Given the description of an element on the screen output the (x, y) to click on. 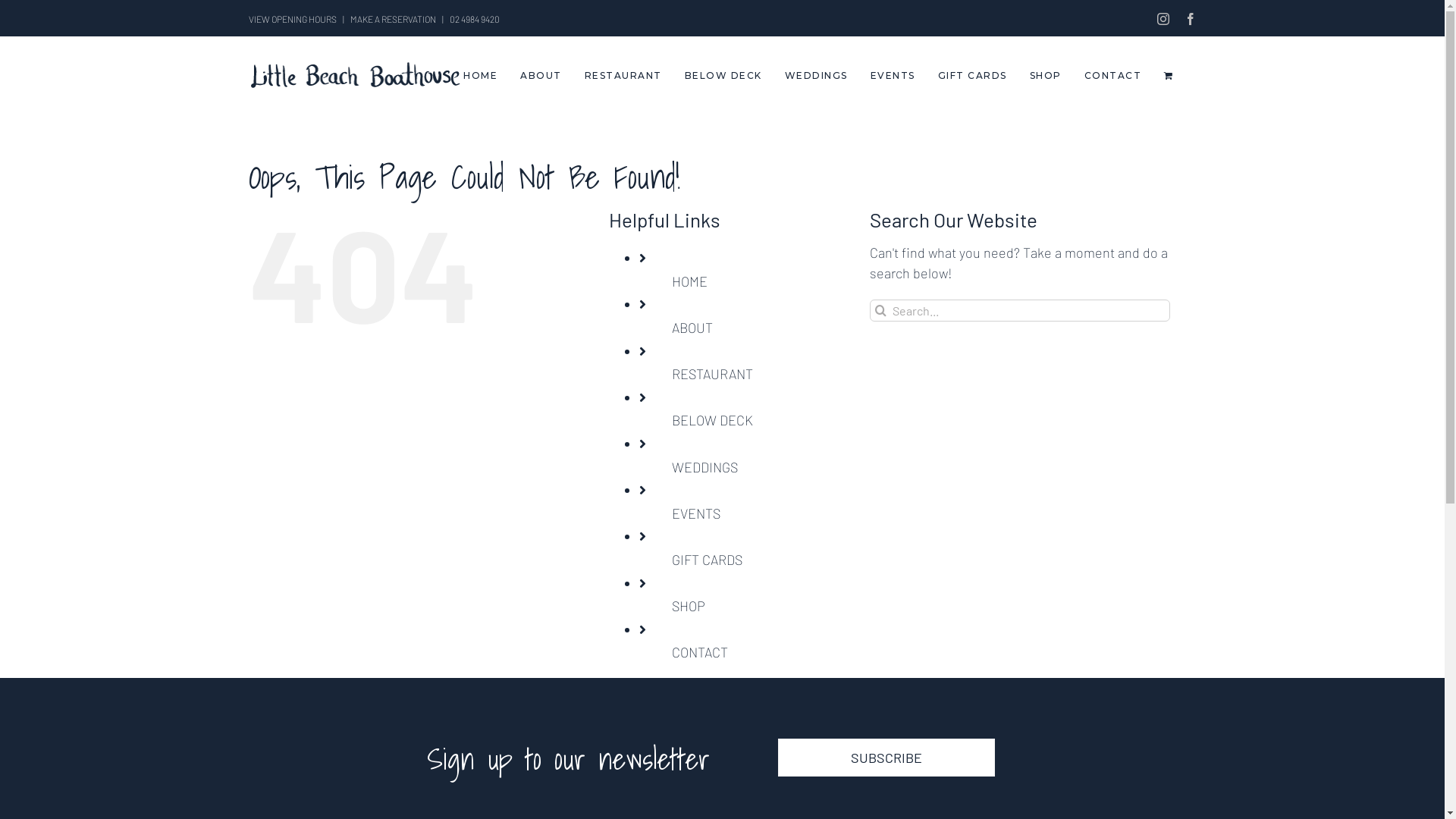
BELOW DECK Element type: text (712, 419)
EVENTS Element type: text (892, 75)
GIFT CARDS Element type: text (706, 559)
Facebook Element type: text (1190, 18)
VIEW OPENING HOURS Element type: text (292, 18)
Instagram Element type: text (1163, 18)
ABOUT Element type: text (691, 327)
GIFT CARDS Element type: text (971, 75)
HOME Element type: text (689, 281)
RESTAURANT Element type: text (622, 75)
SHOP Element type: text (688, 605)
WEDDINGS Element type: text (815, 75)
CONTACT Element type: text (1113, 75)
SUBSCRIBE Element type: text (886, 757)
ABOUT Element type: text (540, 75)
WEDDINGS Element type: text (704, 466)
02 4984 9420 Element type: text (473, 18)
CONTACT Element type: text (699, 651)
RESTAURANT Element type: text (712, 373)
EVENTS Element type: text (695, 513)
SHOP Element type: text (1045, 75)
MAKE A RESERVATION Element type: text (393, 18)
HOME Element type: text (480, 75)
BELOW DECK Element type: text (722, 75)
